Given the description of an element on the screen output the (x, y) to click on. 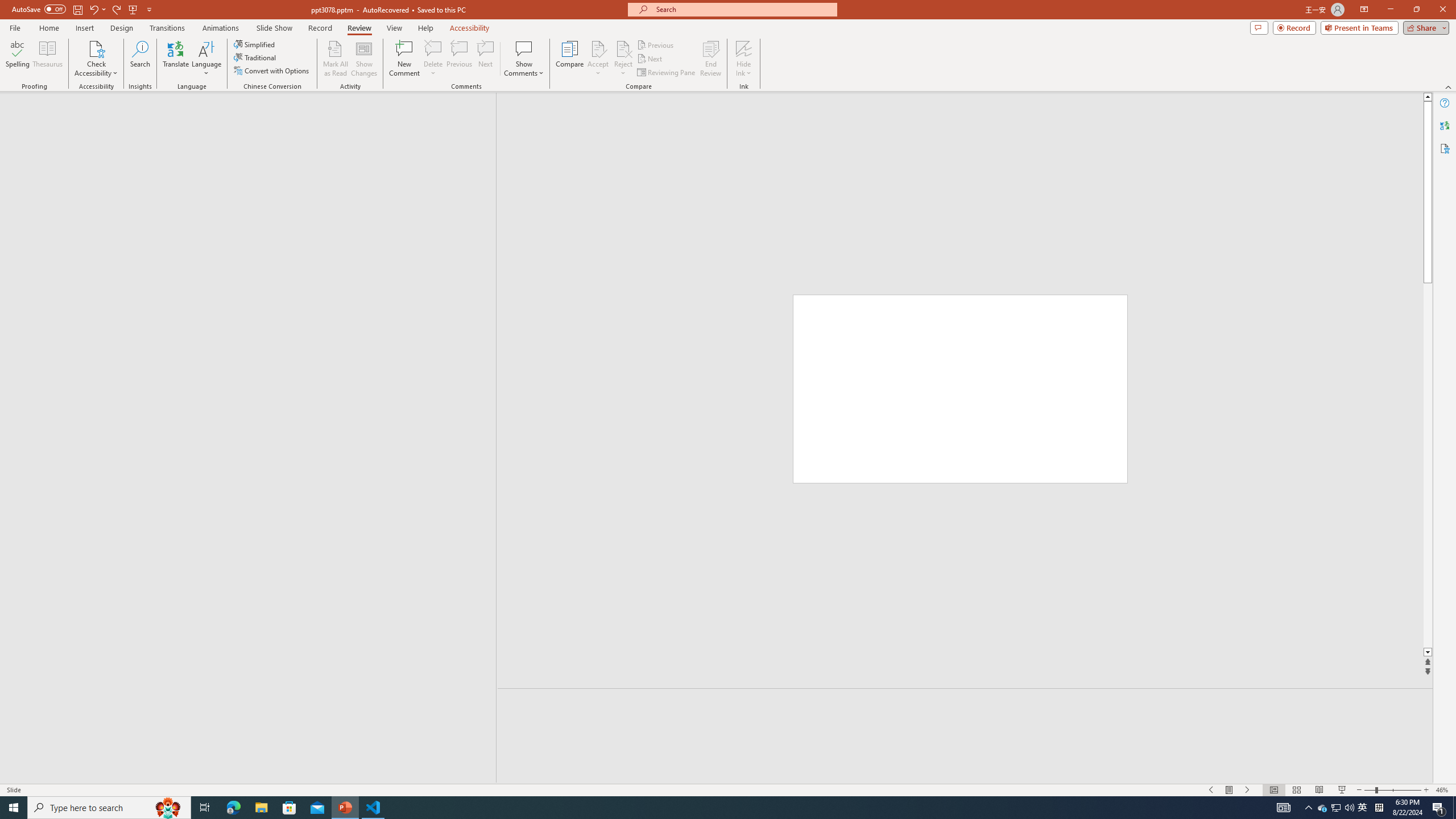
New Comment (403, 58)
Outline (252, 114)
Next (649, 58)
Menu On (1229, 790)
Simplified (254, 44)
Thesaurus... (47, 58)
